Given the description of an element on the screen output the (x, y) to click on. 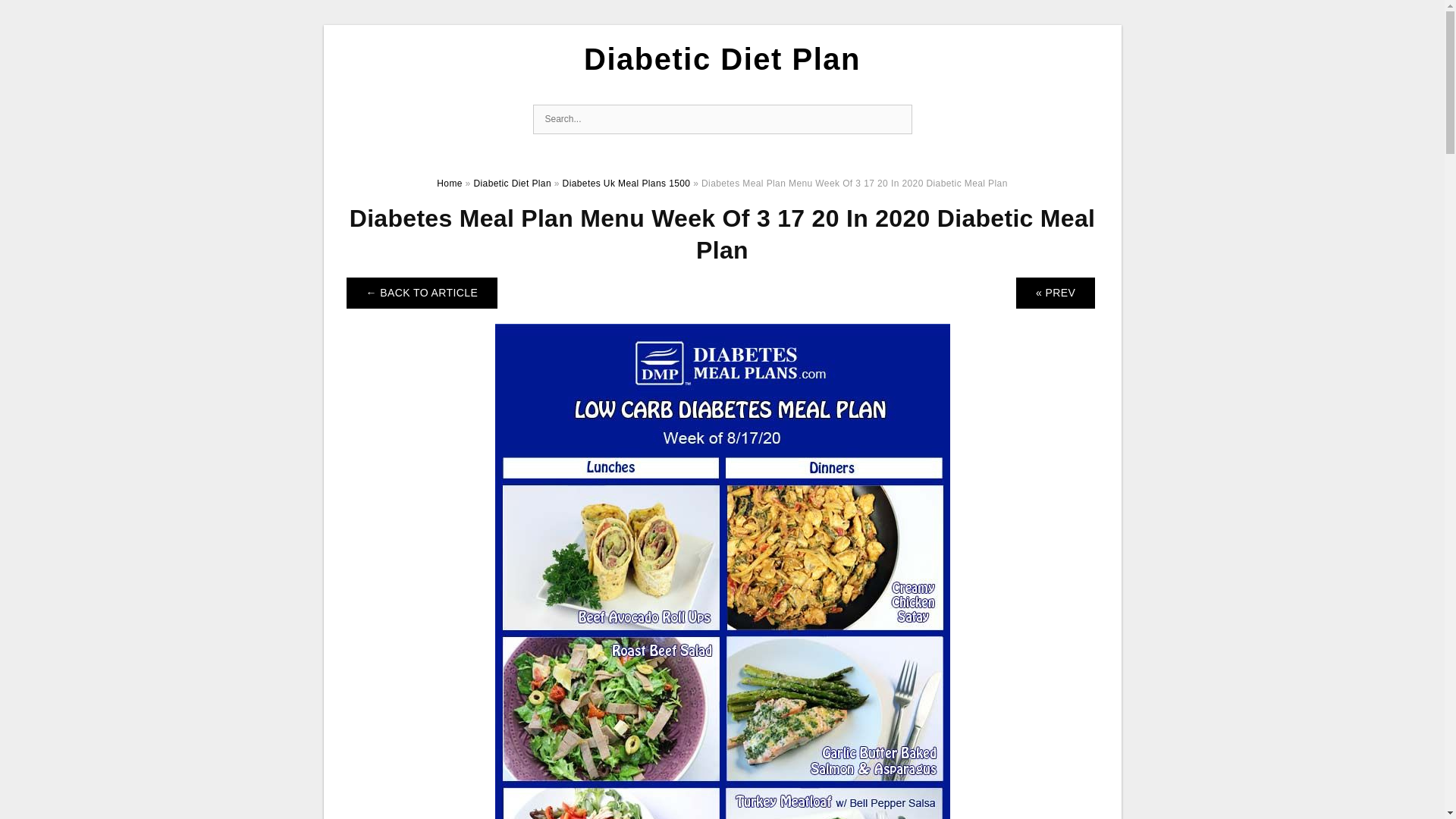
Diabetic Diet Plan (512, 183)
Search for: (721, 119)
Search (895, 119)
Home (449, 183)
Diabetic Diet Plan (721, 59)
Search (895, 119)
Search (895, 119)
Diabetes Uk Meal Plans 1500 (626, 183)
